Given the description of an element on the screen output the (x, y) to click on. 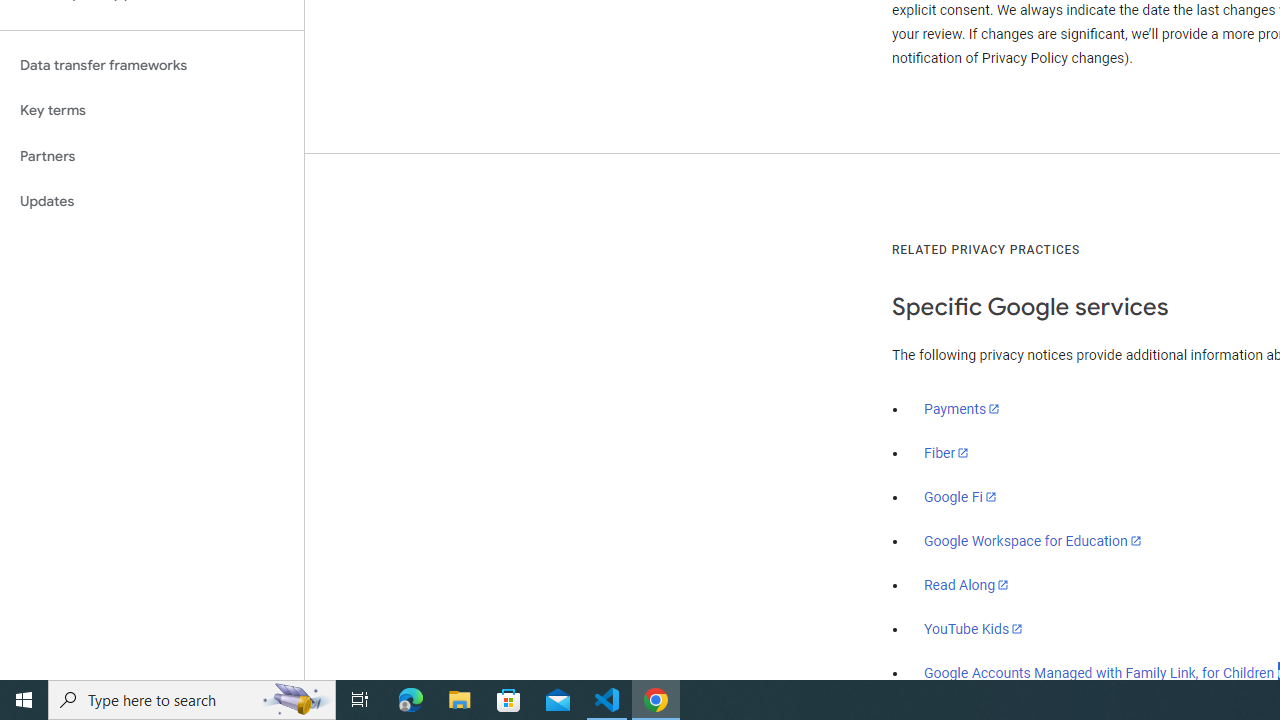
Updates (152, 201)
Partners (152, 156)
Read Along (966, 585)
YouTube Kids (974, 628)
Payments (962, 409)
Fiber (947, 453)
Google Workspace for Education (1032, 541)
Google Fi (960, 497)
Data transfer frameworks (152, 65)
Key terms (152, 110)
